Given the description of an element on the screen output the (x, y) to click on. 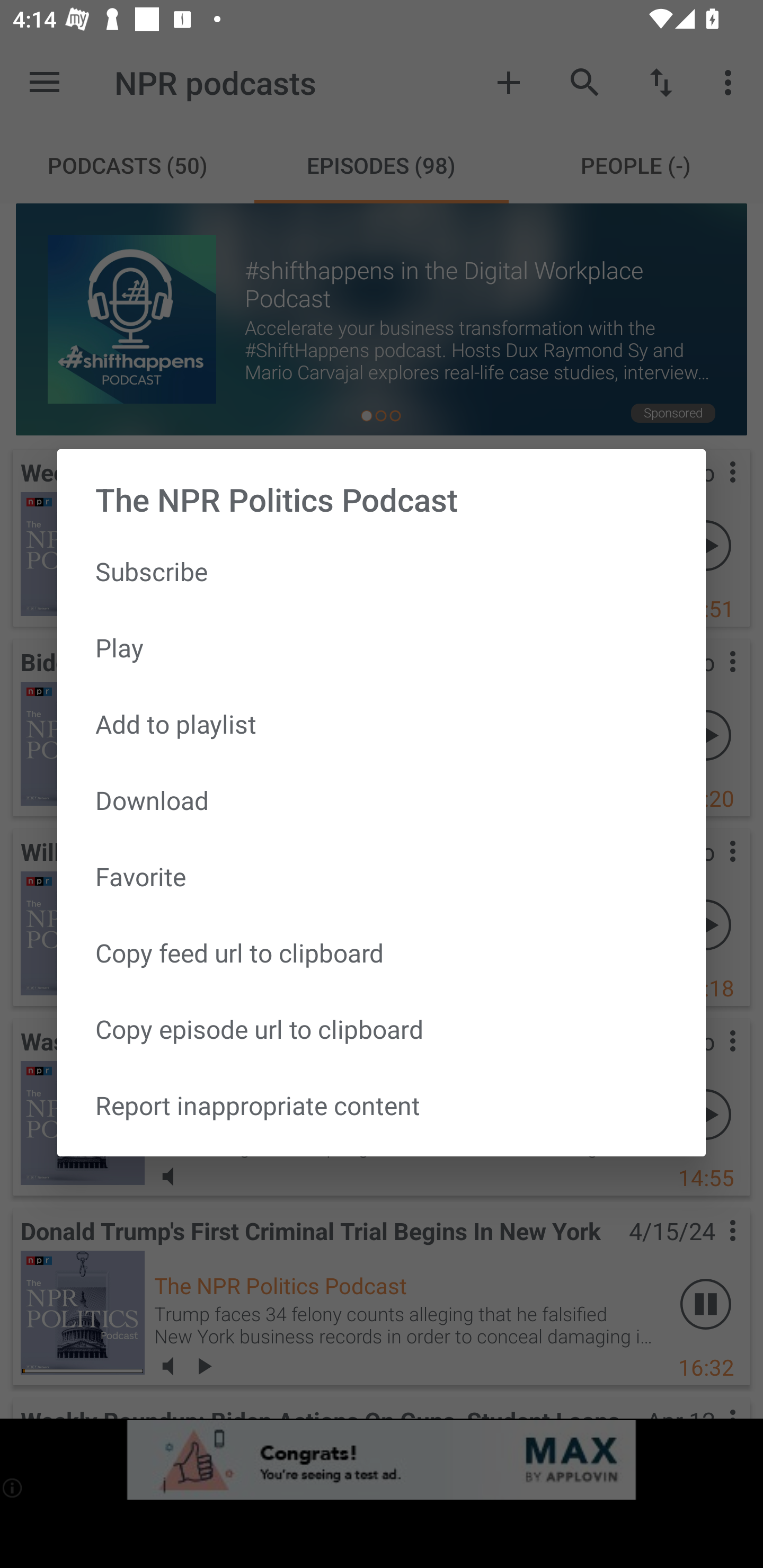
Subscribe (381, 571)
Play (381, 647)
Add to playlist (381, 724)
Download (381, 800)
Favorite (381, 876)
Copy feed url to clipboard (381, 952)
Copy episode url to clipboard (381, 1028)
Report inappropriate content (381, 1105)
